Given the description of an element on the screen output the (x, y) to click on. 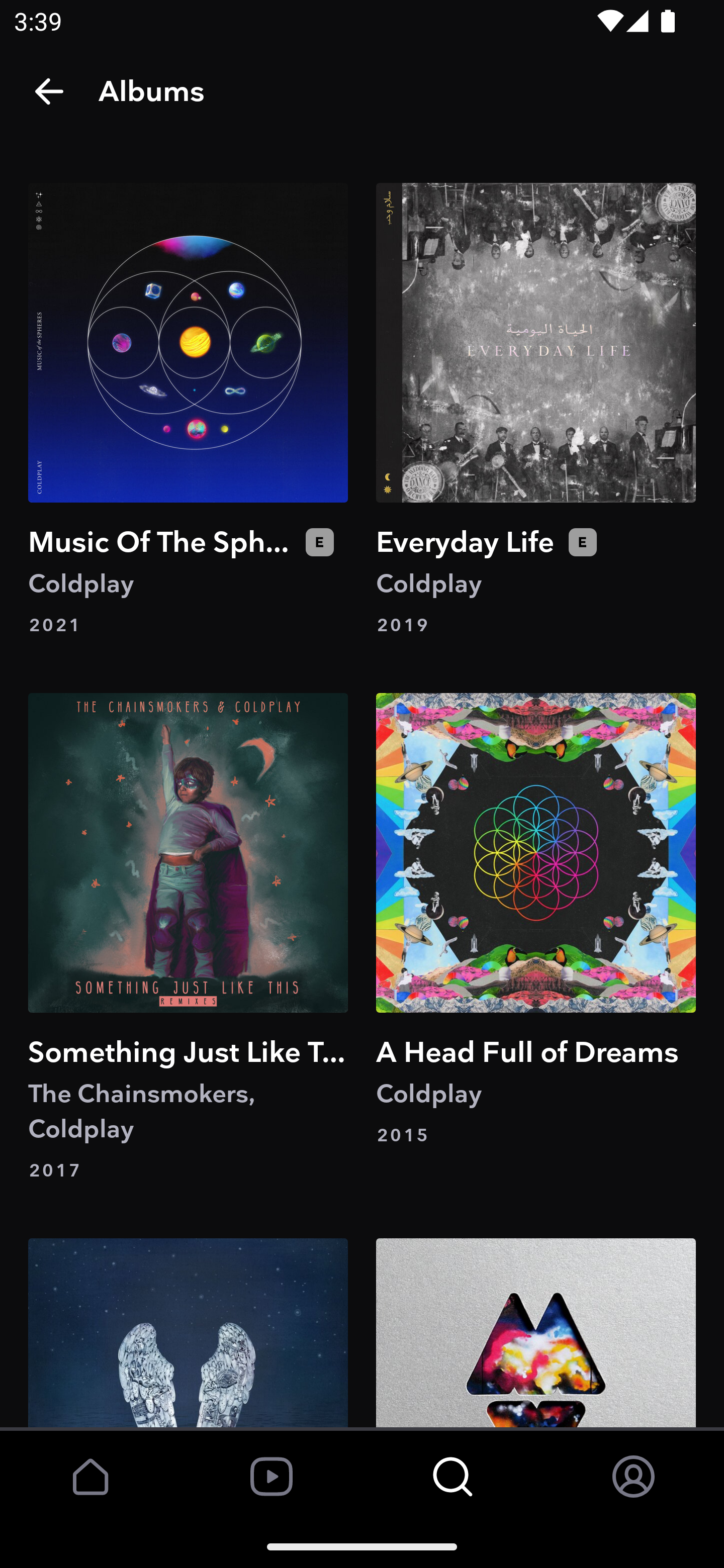
Music Of The Spheres Coldplay 2021 (188, 409)
Everyday Life Coldplay 2019 (535, 409)
A Head Full of Dreams Coldplay 2015 (535, 937)
